Given the description of an element on the screen output the (x, y) to click on. 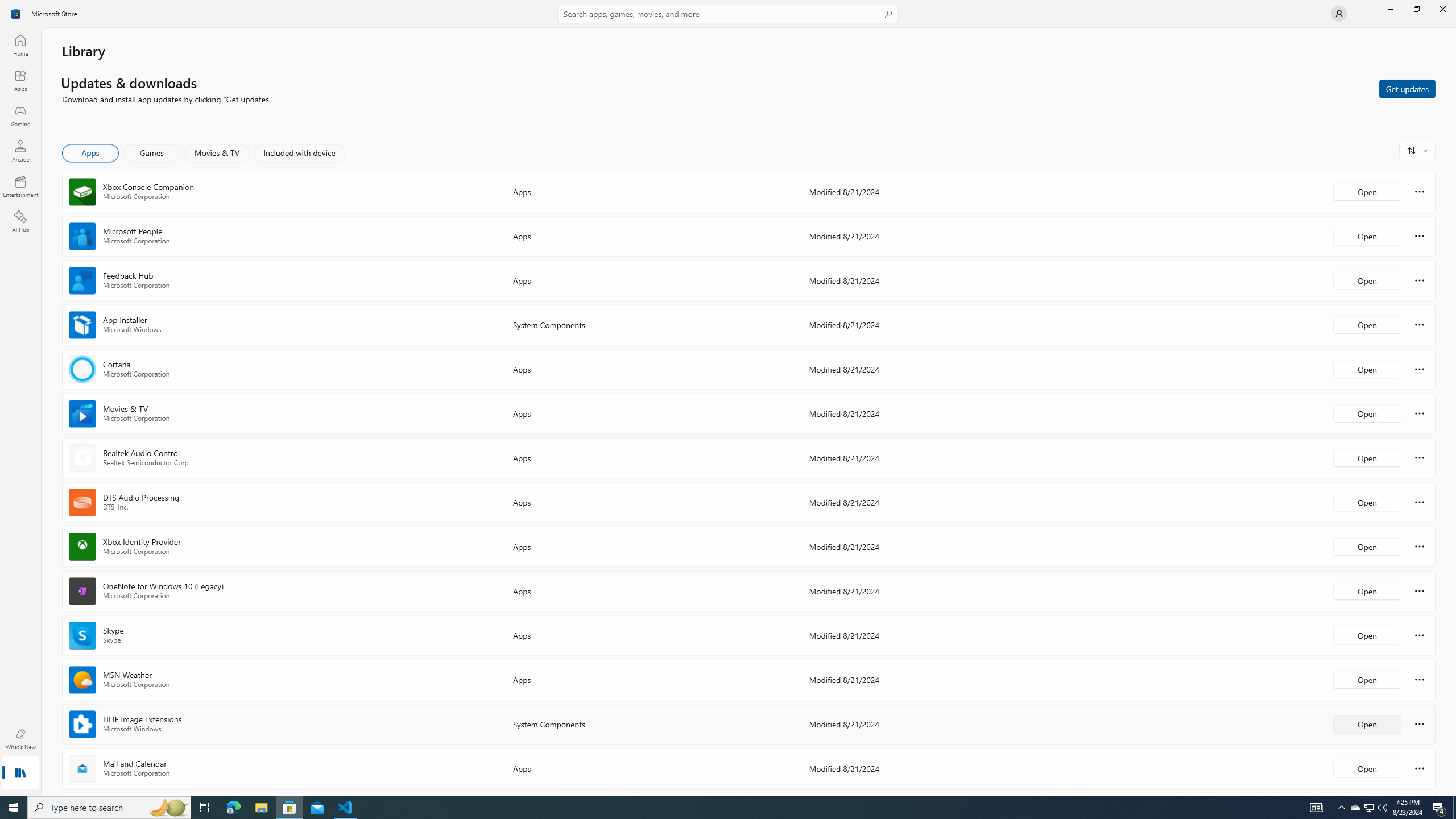
Open (1366, 768)
